Given the description of an element on the screen output the (x, y) to click on. 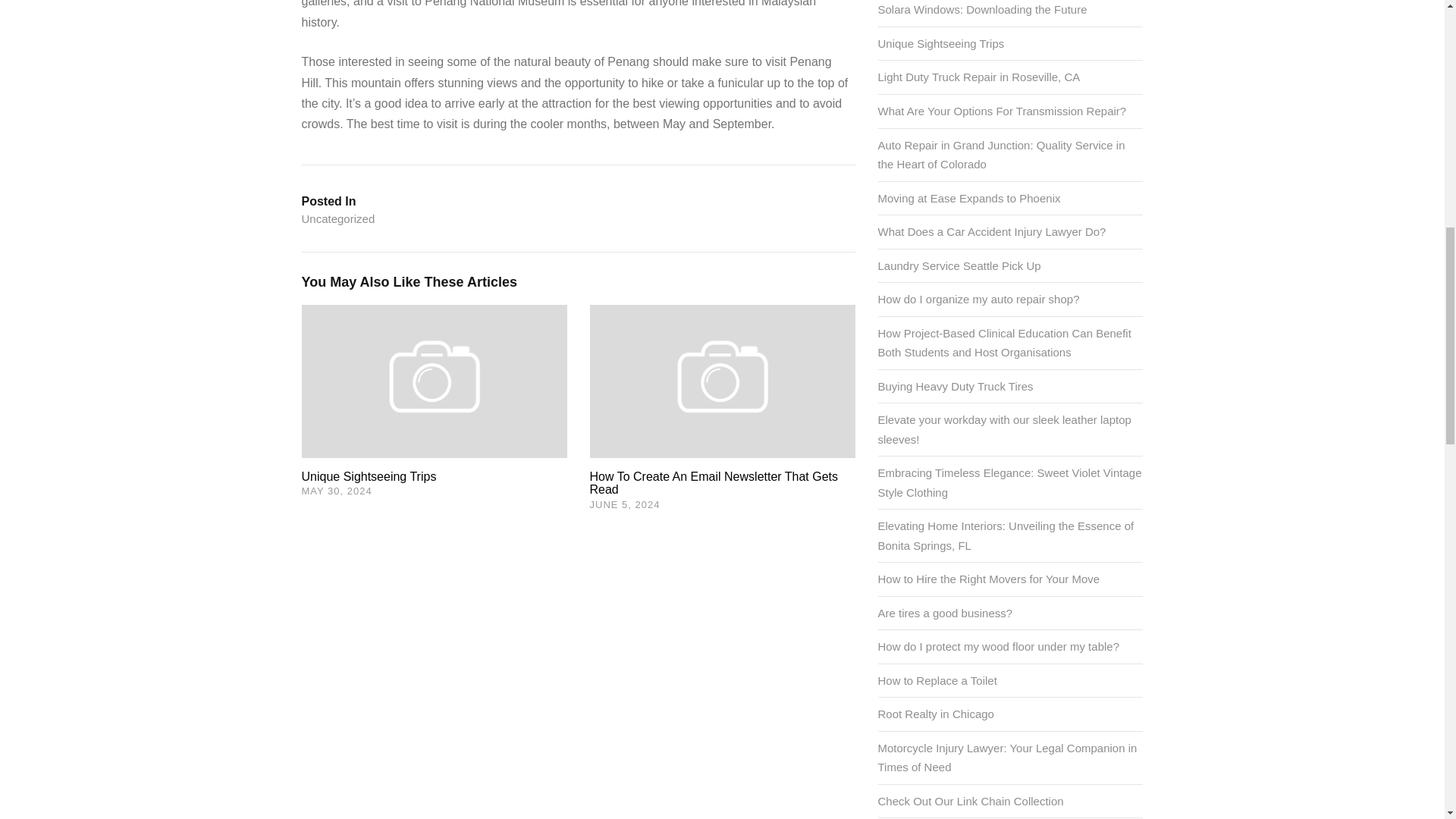
Unique Sightseeing Trips (368, 476)
Moving at Ease Expands to Phoenix (969, 197)
Solara Windows: Downloading the Future (982, 9)
How To Create An Email Newsletter That Gets Read (713, 483)
Uncategorized (338, 219)
What Are Your Options For Transmission Repair? (1001, 110)
Elevate your workday with our sleek leather laptop sleeves! (1004, 429)
Laundry Service Seattle Pick Up (959, 265)
Unique Sightseeing Trips (940, 42)
What Does a Car Accident Injury Lawyer Do? (991, 231)
Light Duty Truck Repair in Roseville, CA (978, 76)
Unique Sightseeing Trips (434, 379)
How to Create an Email Newsletter That Gets Read (713, 483)
